Given the description of an element on the screen output the (x, y) to click on. 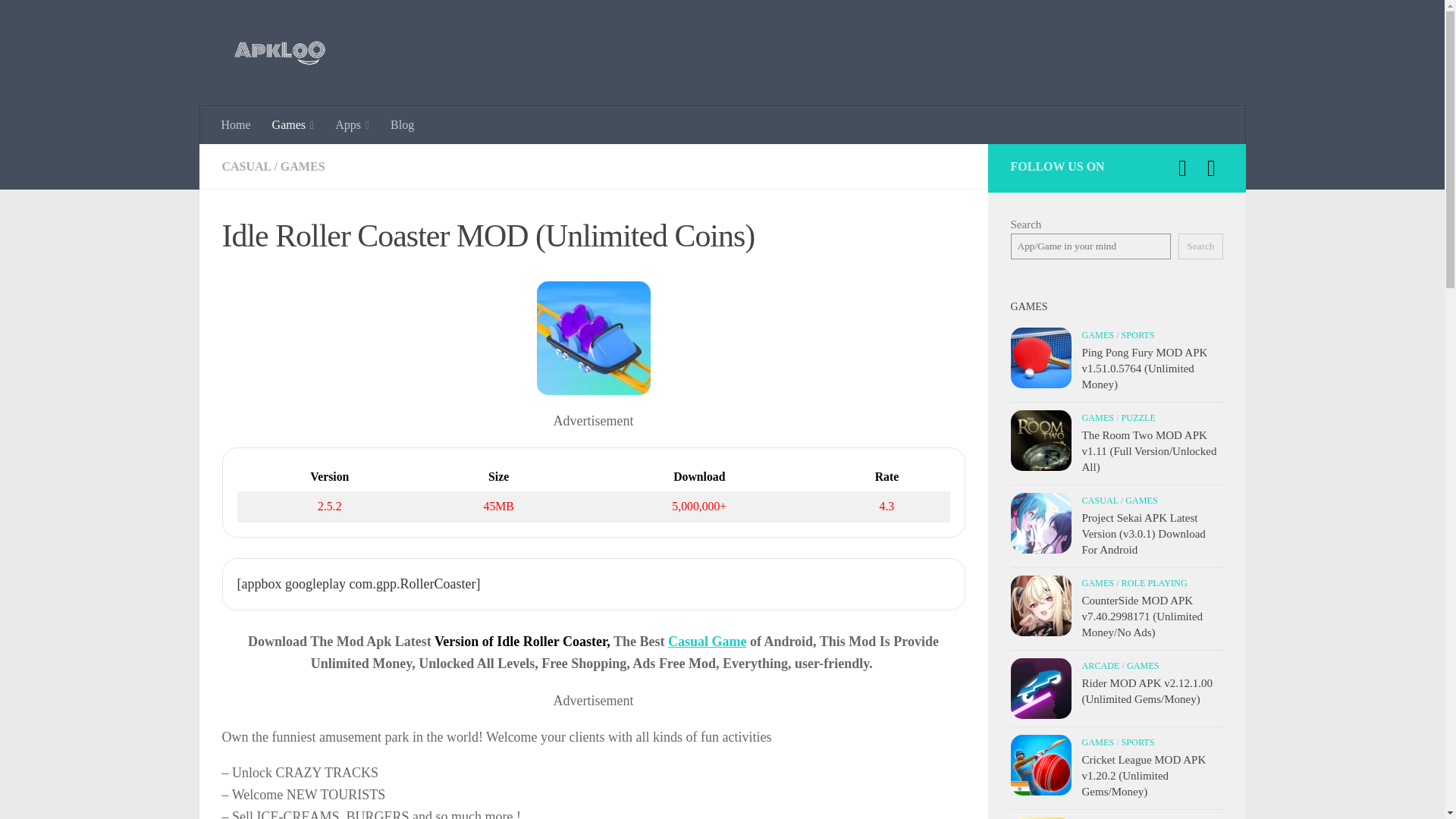
Games (293, 125)
Follow us on Instagram (1211, 168)
Apps (352, 125)
Skip to content (59, 20)
Home (236, 125)
Follow us on Telegram (1181, 168)
